Given the description of an element on the screen output the (x, y) to click on. 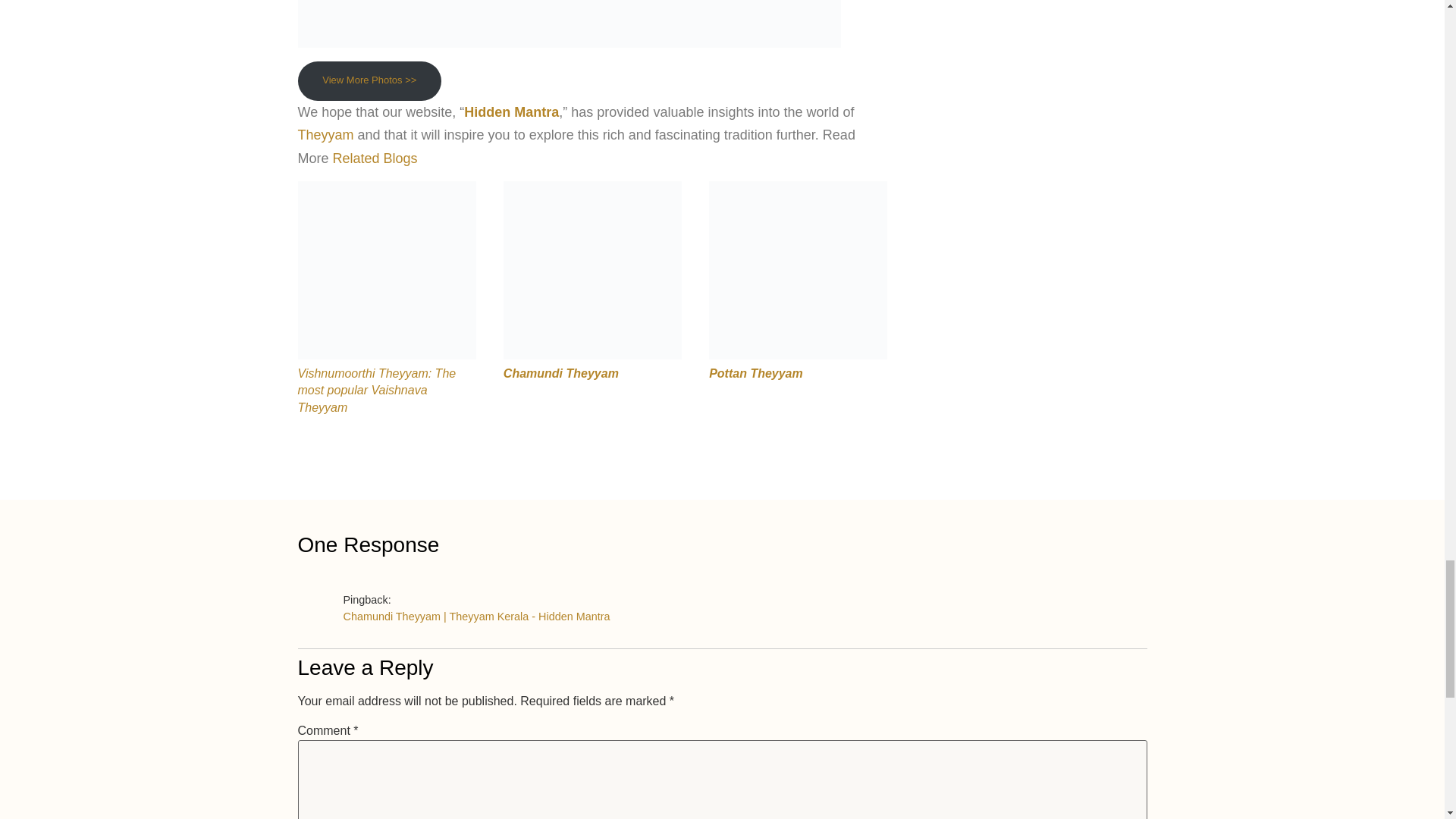
4 (592, 269)
5 (797, 269)
3 (386, 269)
Hidden Mantra (511, 111)
Theyyam (325, 134)
2 (568, 23)
